Given the description of an element on the screen output the (x, y) to click on. 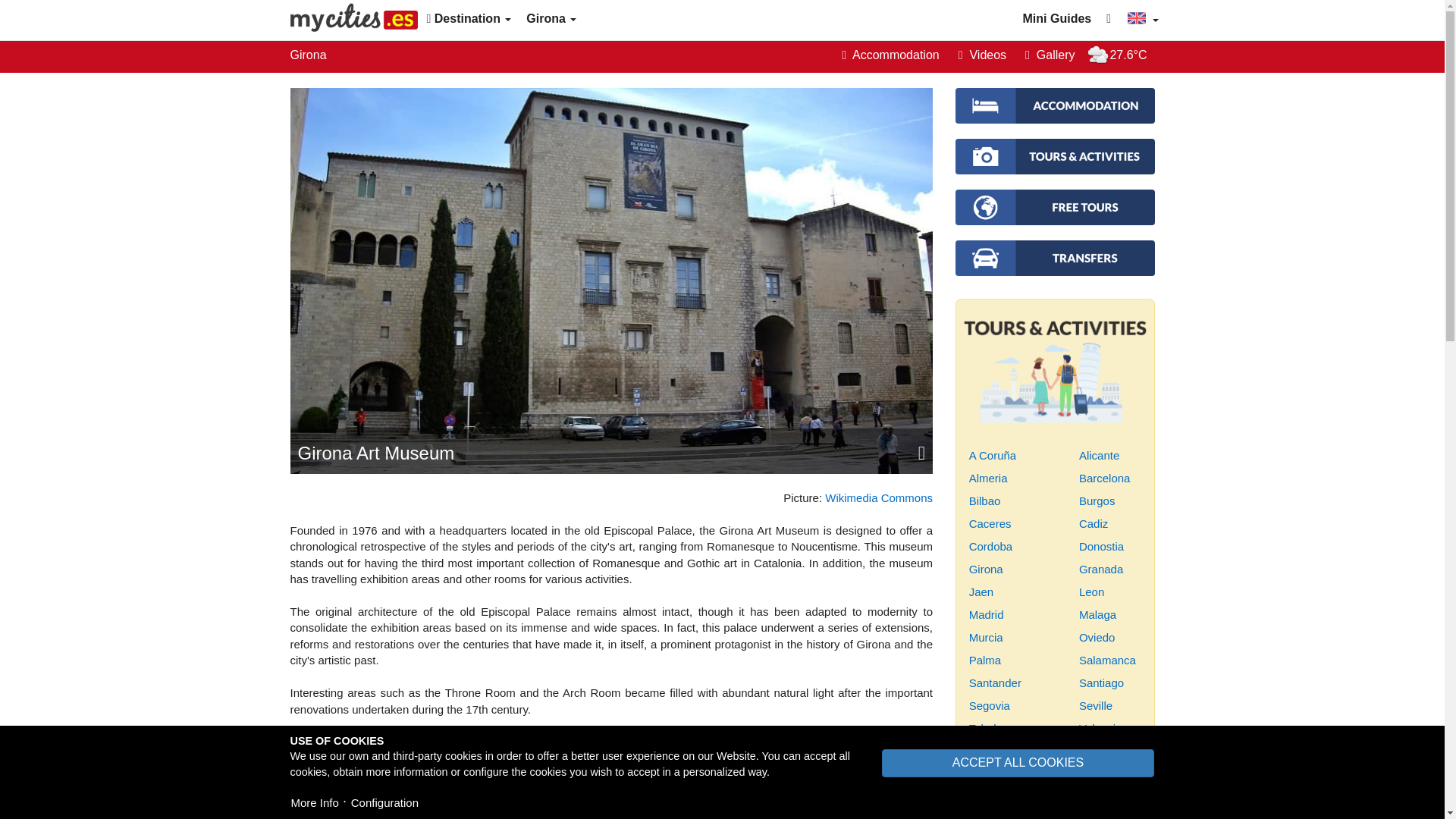
More Info (314, 802)
Configuration (384, 802)
Girona (550, 18)
ACCEPT ALL COOKIES (1017, 763)
Destination (468, 18)
